Given the description of an element on the screen output the (x, y) to click on. 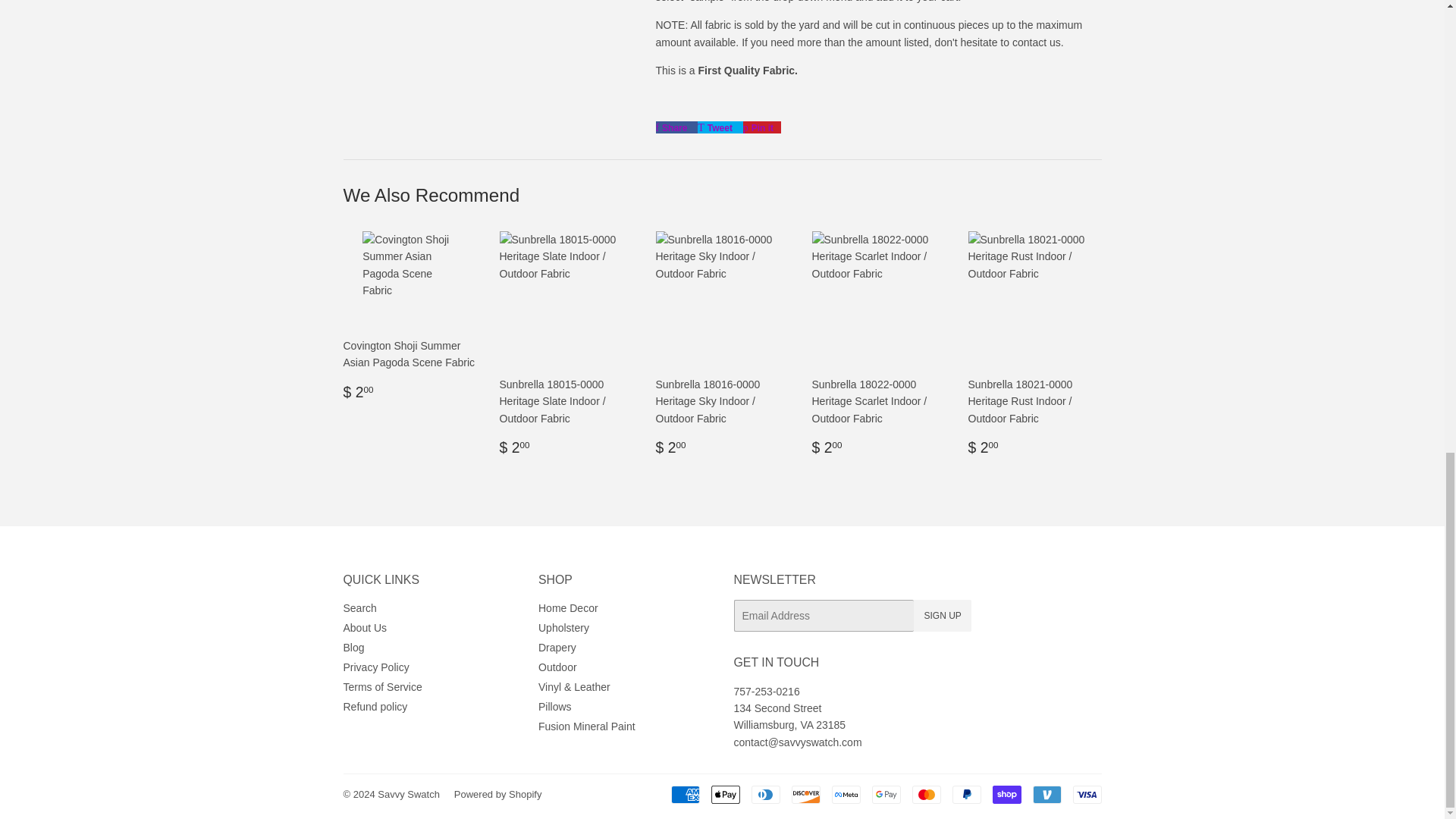
Google Pay (886, 794)
Share on Facebook (676, 127)
Apple Pay (725, 794)
Meta Pay (845, 794)
Shop Pay (1005, 794)
PayPal (966, 794)
Pin on Pinterest (761, 127)
Diners Club (764, 794)
Mastercard (925, 794)
Discover (806, 794)
